Given the description of an element on the screen output the (x, y) to click on. 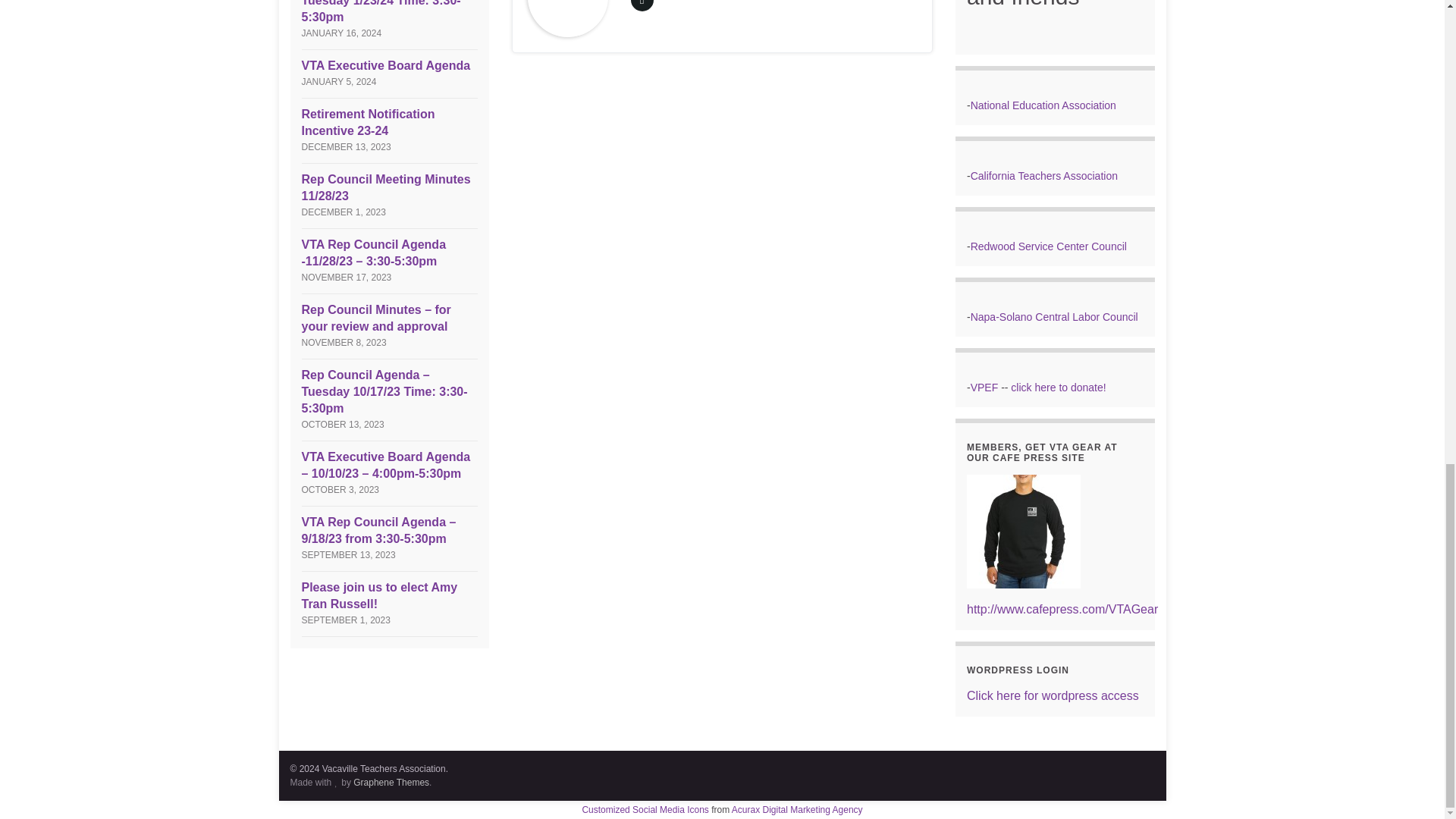
VPEF Donation Form (1057, 387)
